Given the description of an element on the screen output the (x, y) to click on. 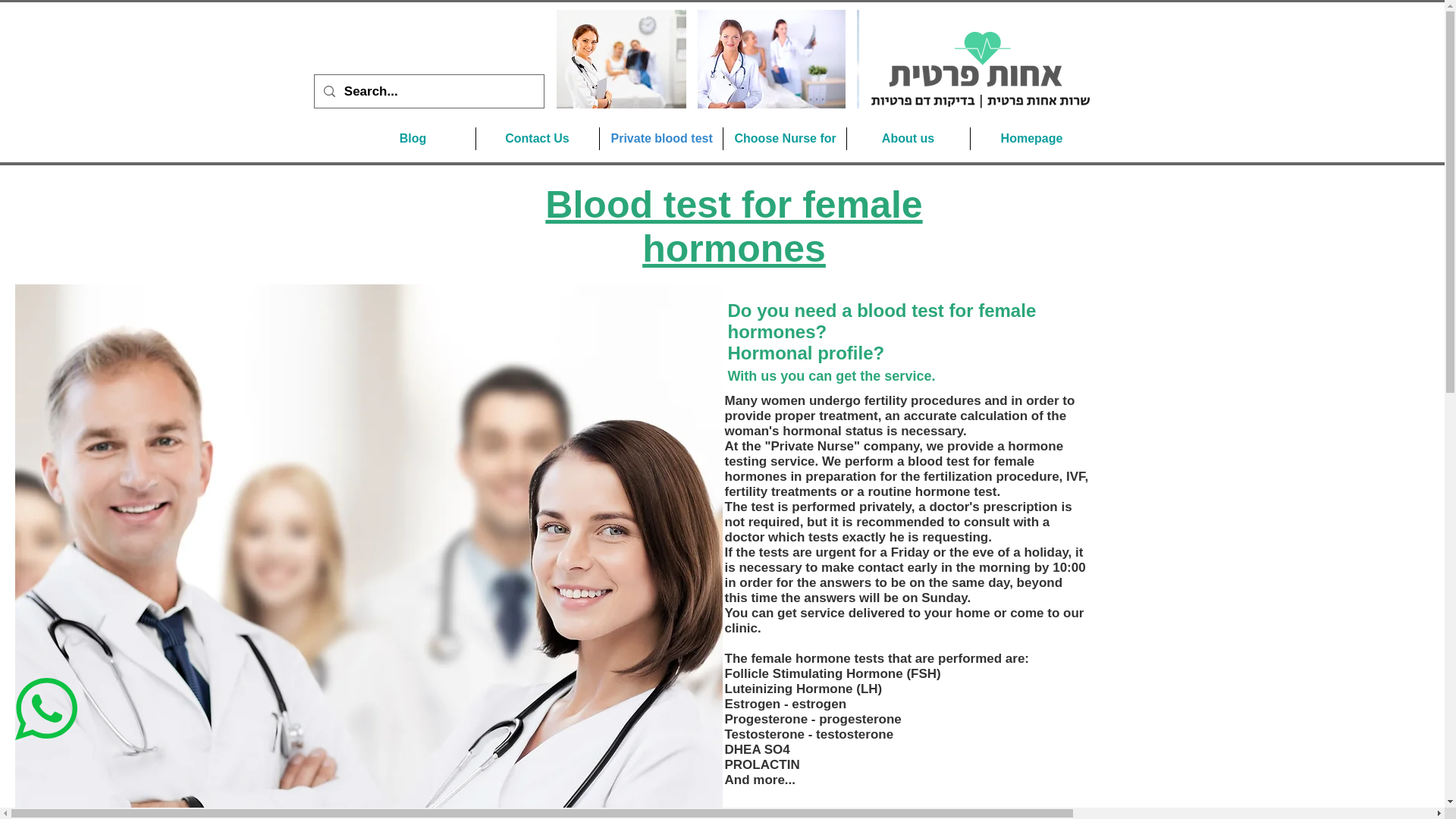
Contact Us (537, 138)
Choose Nurse for (784, 138)
Private blood test (660, 138)
Blog (412, 138)
